Given the description of an element on the screen output the (x, y) to click on. 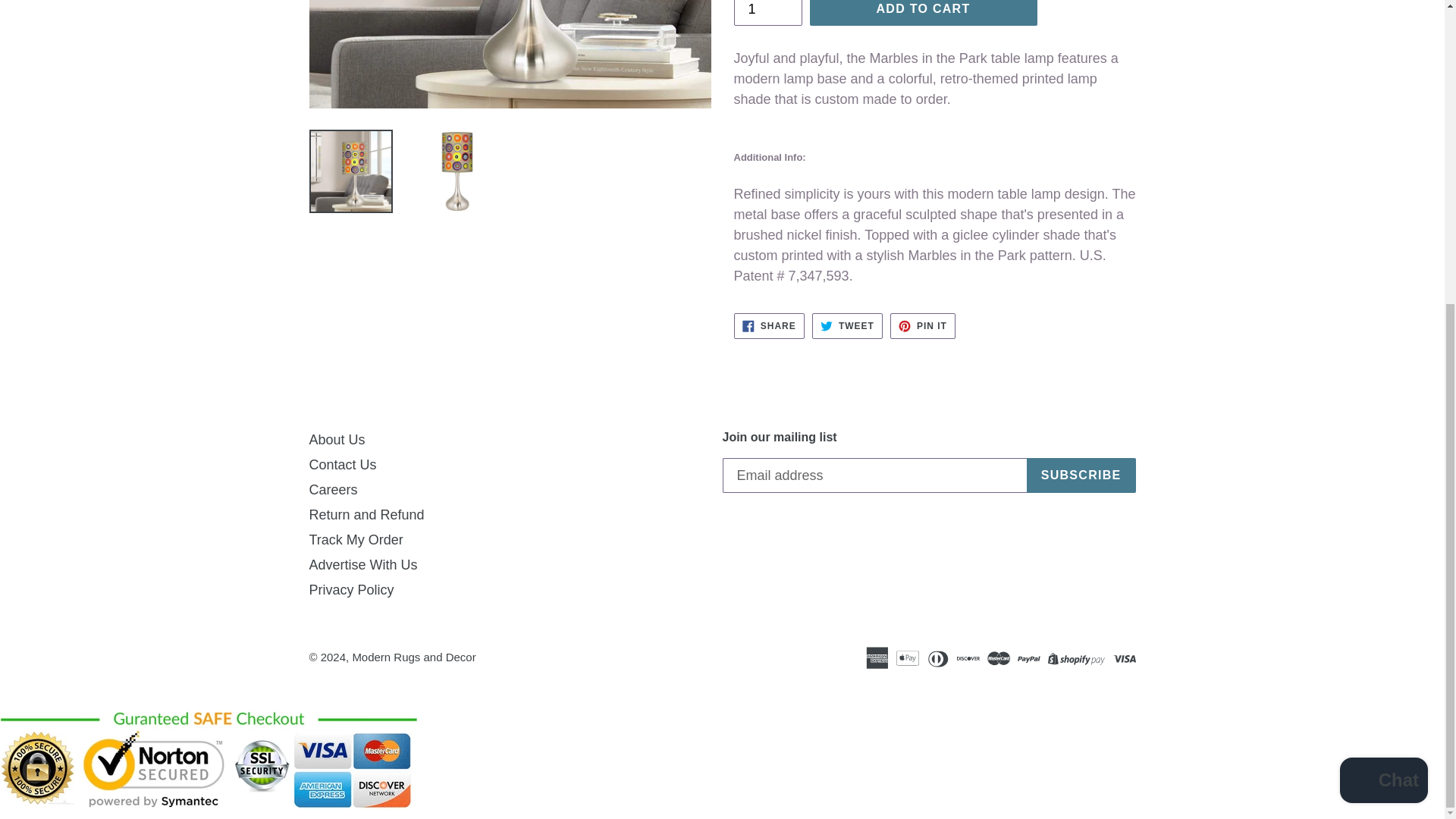
1 (767, 13)
Share on Facebook (769, 325)
Pin on Pinterest (922, 325)
Shopify online store chat (1383, 305)
Tweet on Twitter (847, 325)
